Given the description of an element on the screen output the (x, y) to click on. 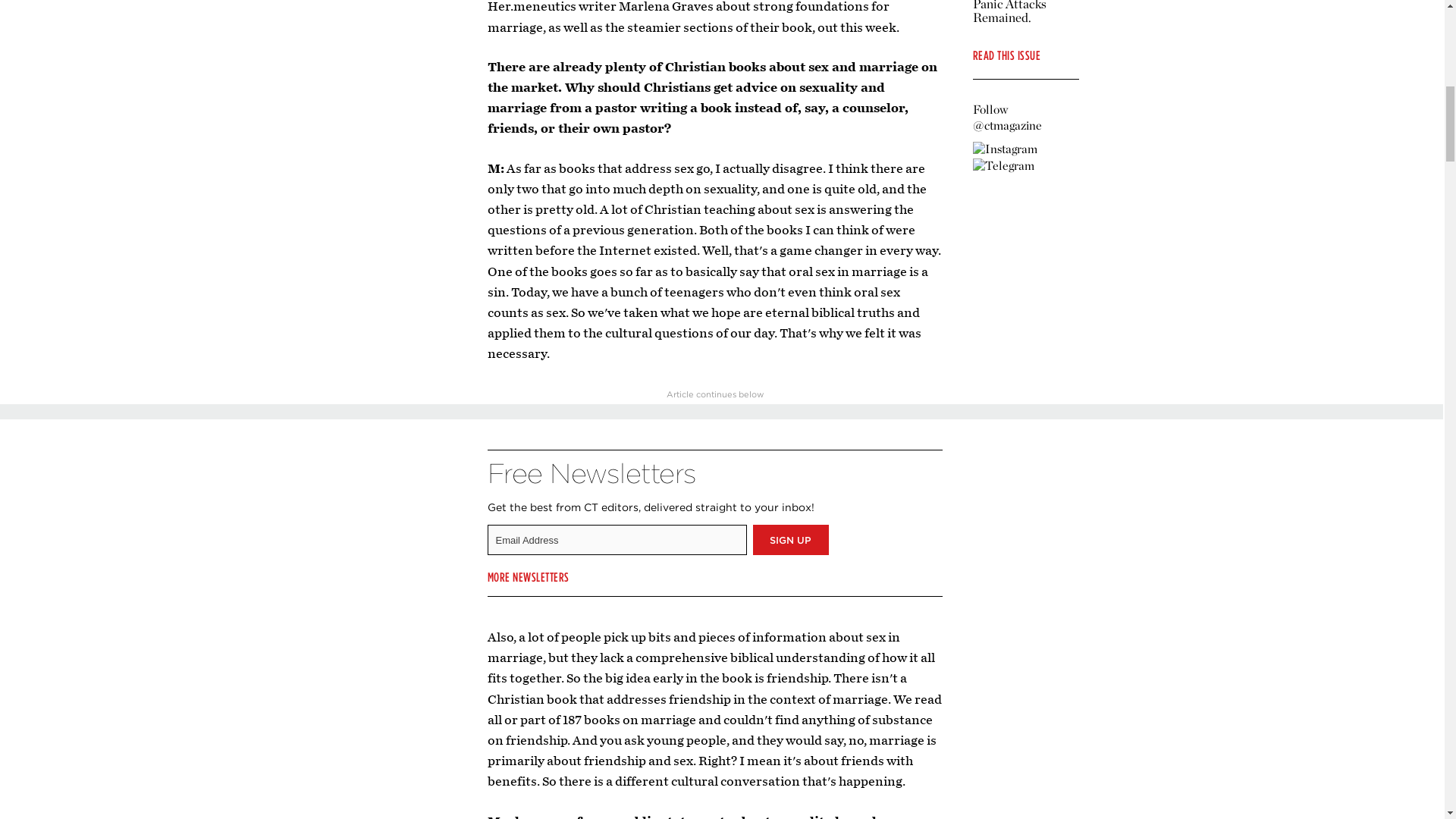
Email Address (615, 539)
Sign Up (790, 539)
